Given the description of an element on the screen output the (x, y) to click on. 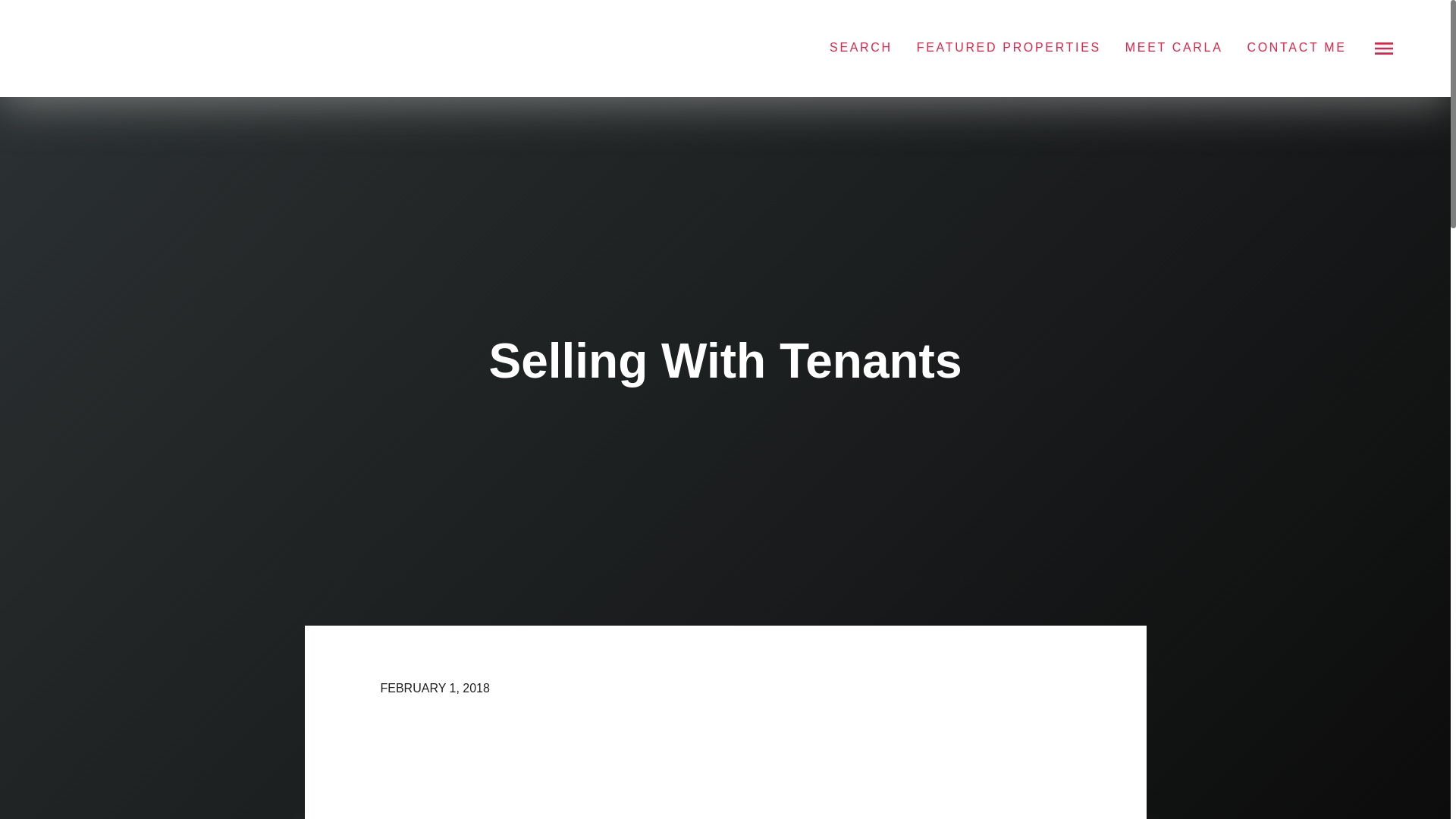
Selling With Tenants (724, 771)
MEET CARLA (1174, 47)
SEARCH (860, 47)
FEATURED PROPERTIES (1008, 47)
CONTACT ME (1295, 47)
